Given the description of an element on the screen output the (x, y) to click on. 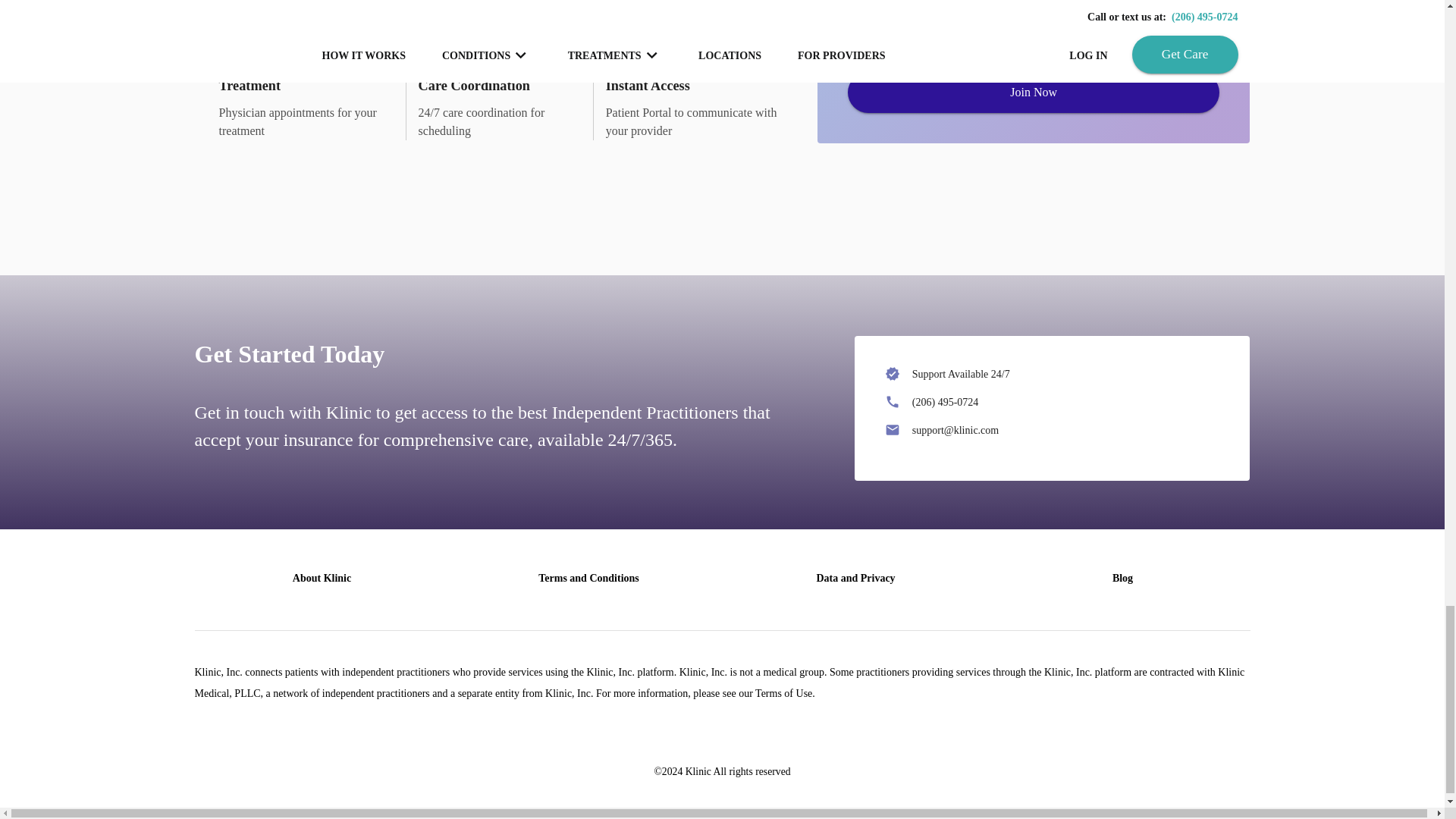
Blog (1122, 577)
Terms and Conditions (588, 577)
Data and Privacy (855, 577)
About Klinic (321, 577)
Join Now (1033, 92)
